Given the description of an element on the screen output the (x, y) to click on. 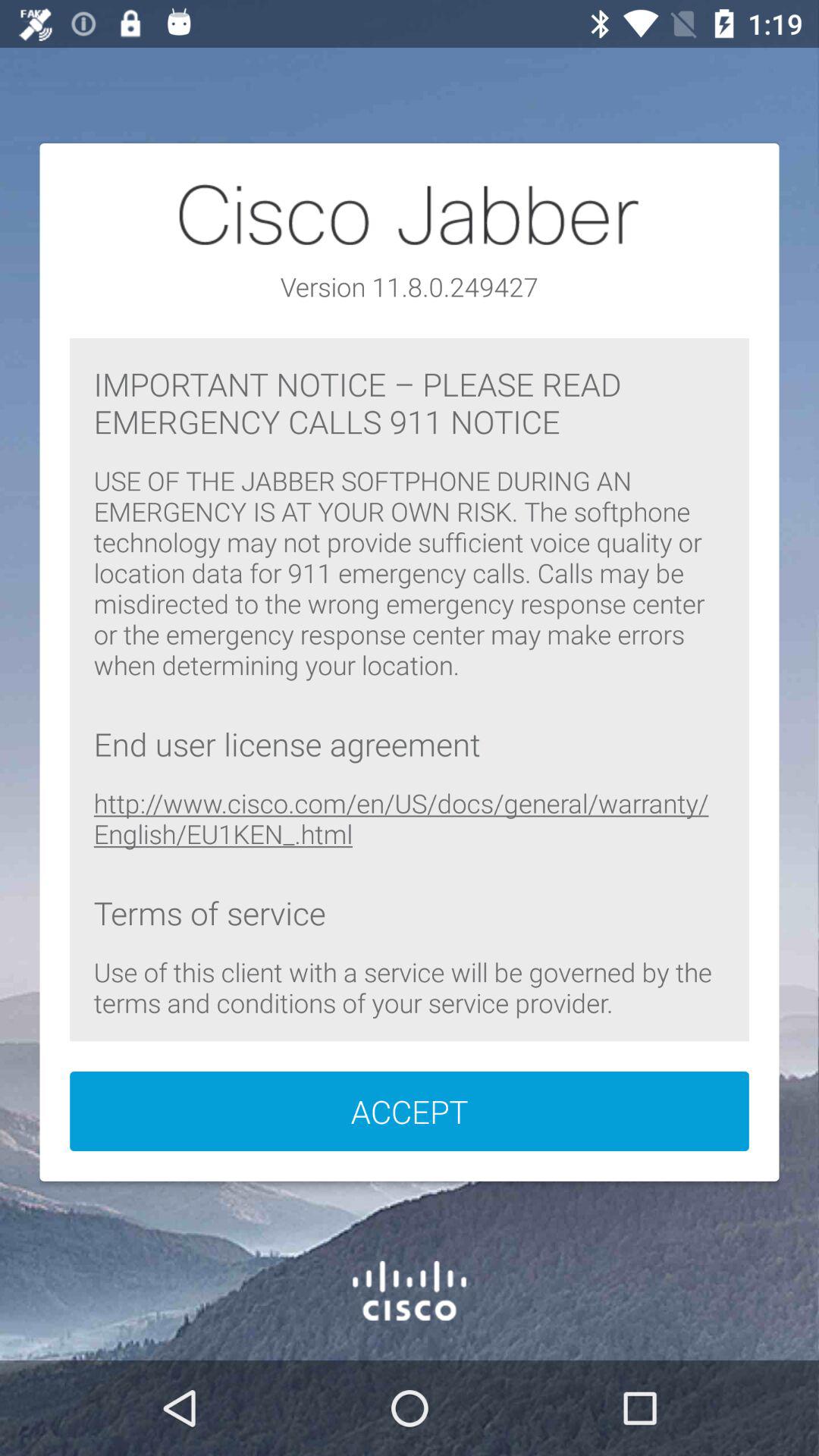
select the text cisco jabber (409, 215)
select the blue accept button (409, 1111)
select the complete white background (409, 661)
